Given the description of an element on the screen output the (x, y) to click on. 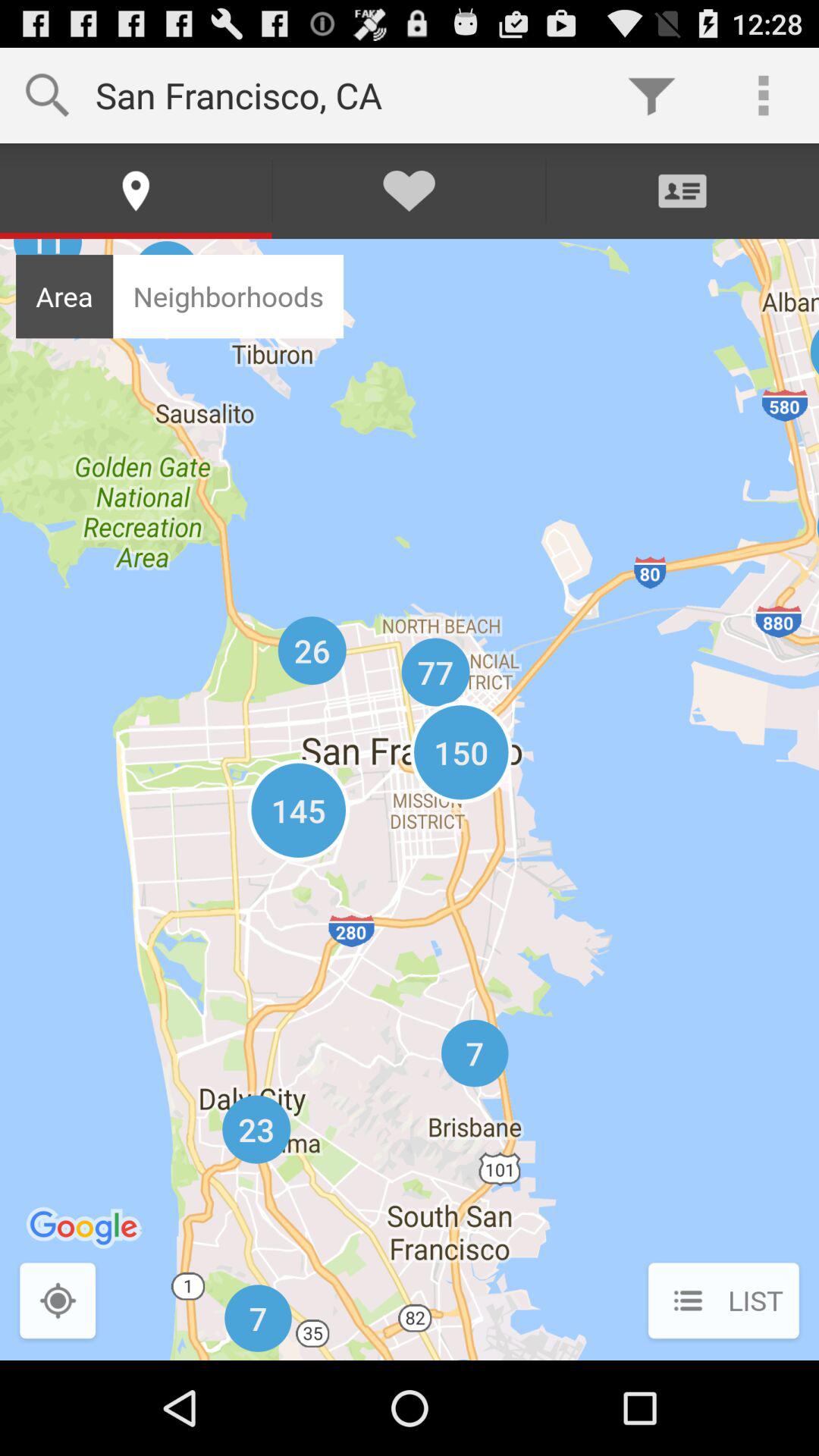
press icon at the center (409, 799)
